Given the description of an element on the screen output the (x, y) to click on. 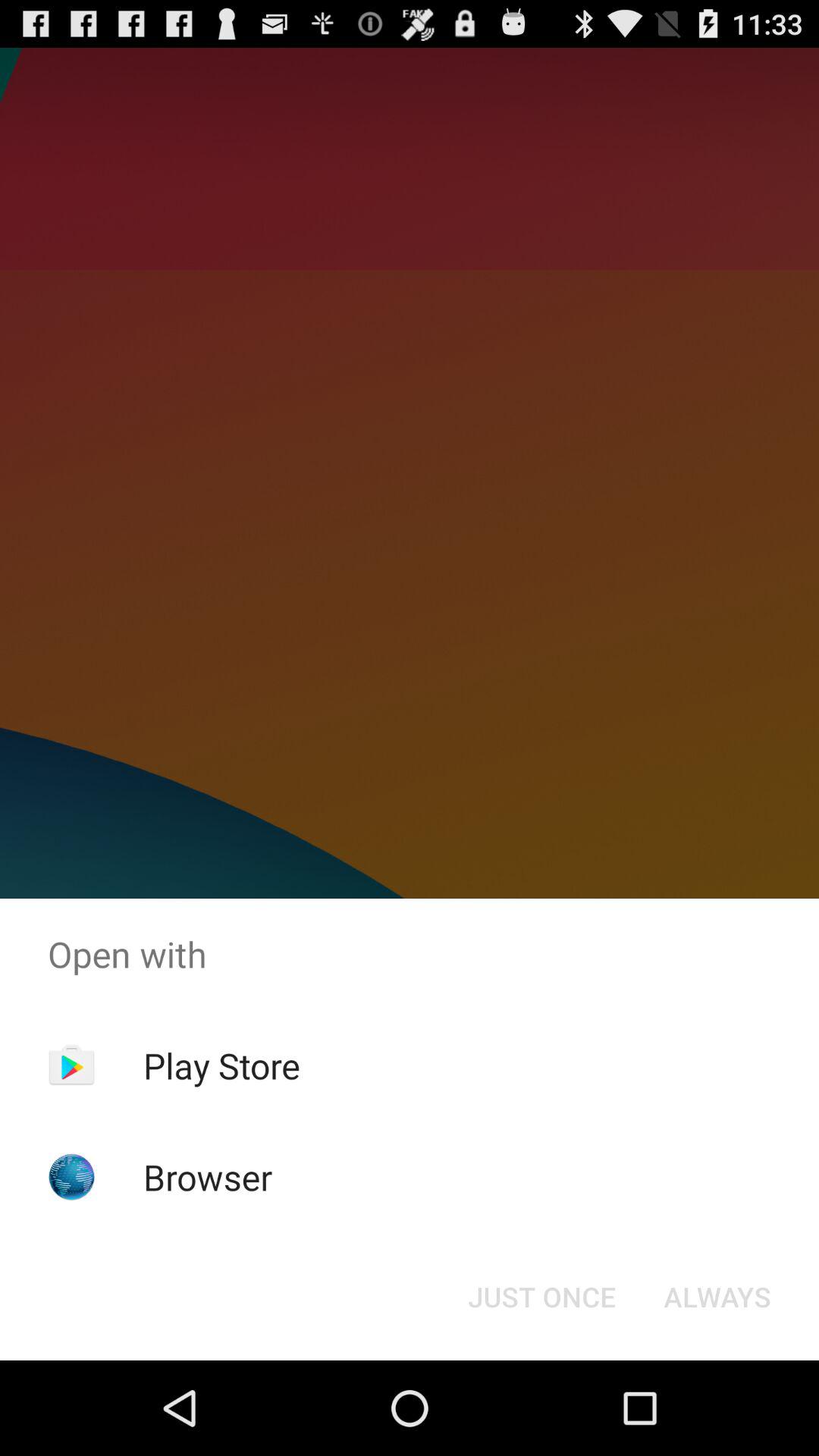
select just once at the bottom (541, 1296)
